Given the description of an element on the screen output the (x, y) to click on. 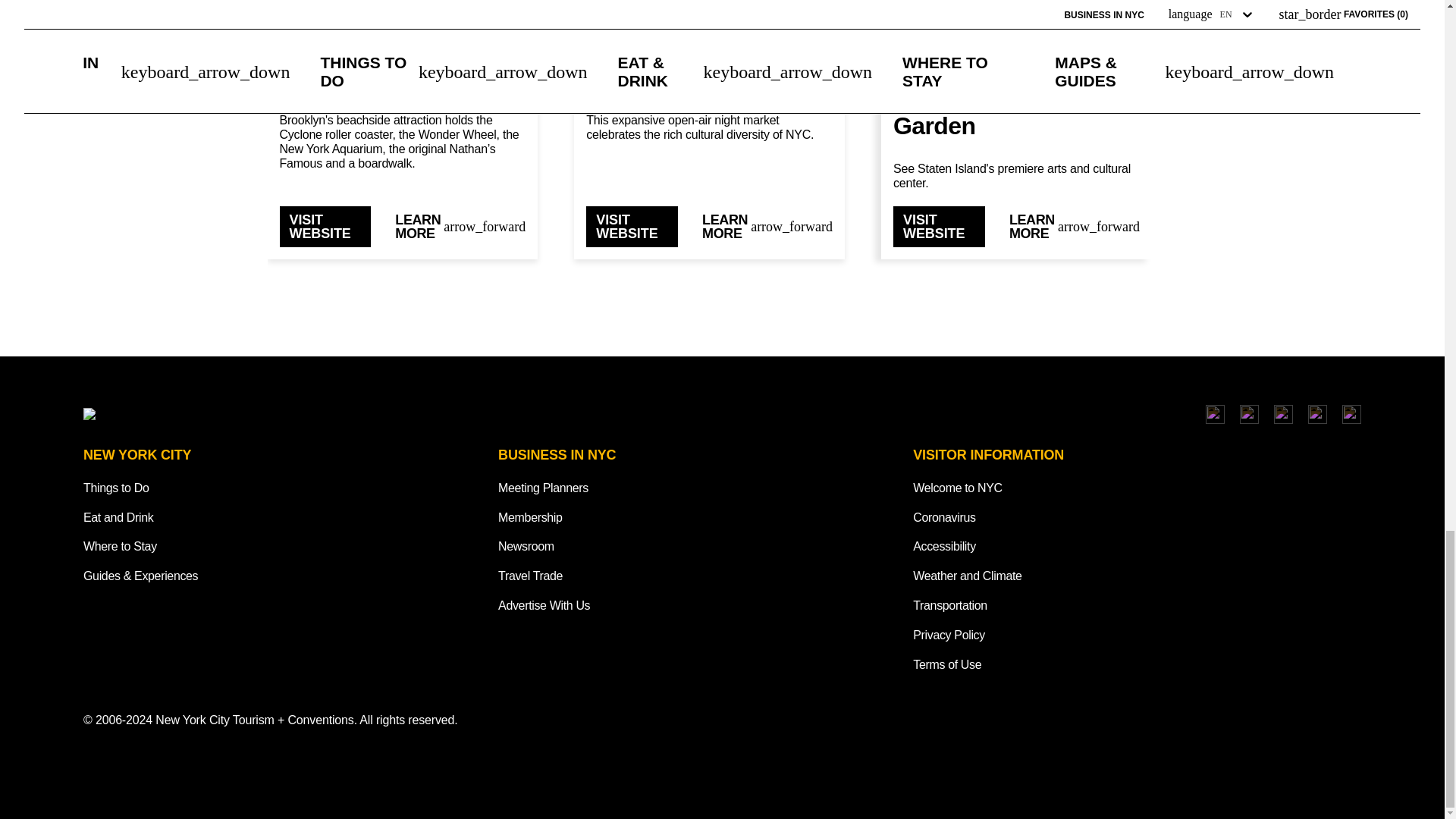
Coney Island (402, 78)
New York City Tourism and Conventions Homepage (260, 414)
New York City Tourism and Conventions TikTok (1283, 414)
VISIT WEBSITE (632, 226)
New York City Tourism and Conventions Pinterest (1351, 414)
New York City Tourism and Conventions Facebook (1249, 414)
VISIT WEBSITE (325, 226)
Queens Night Market (709, 78)
New York City Tourism and Conventions Instagram (1214, 414)
New York City Tourism and Conventions YouTube (1316, 414)
